Given the description of an element on the screen output the (x, y) to click on. 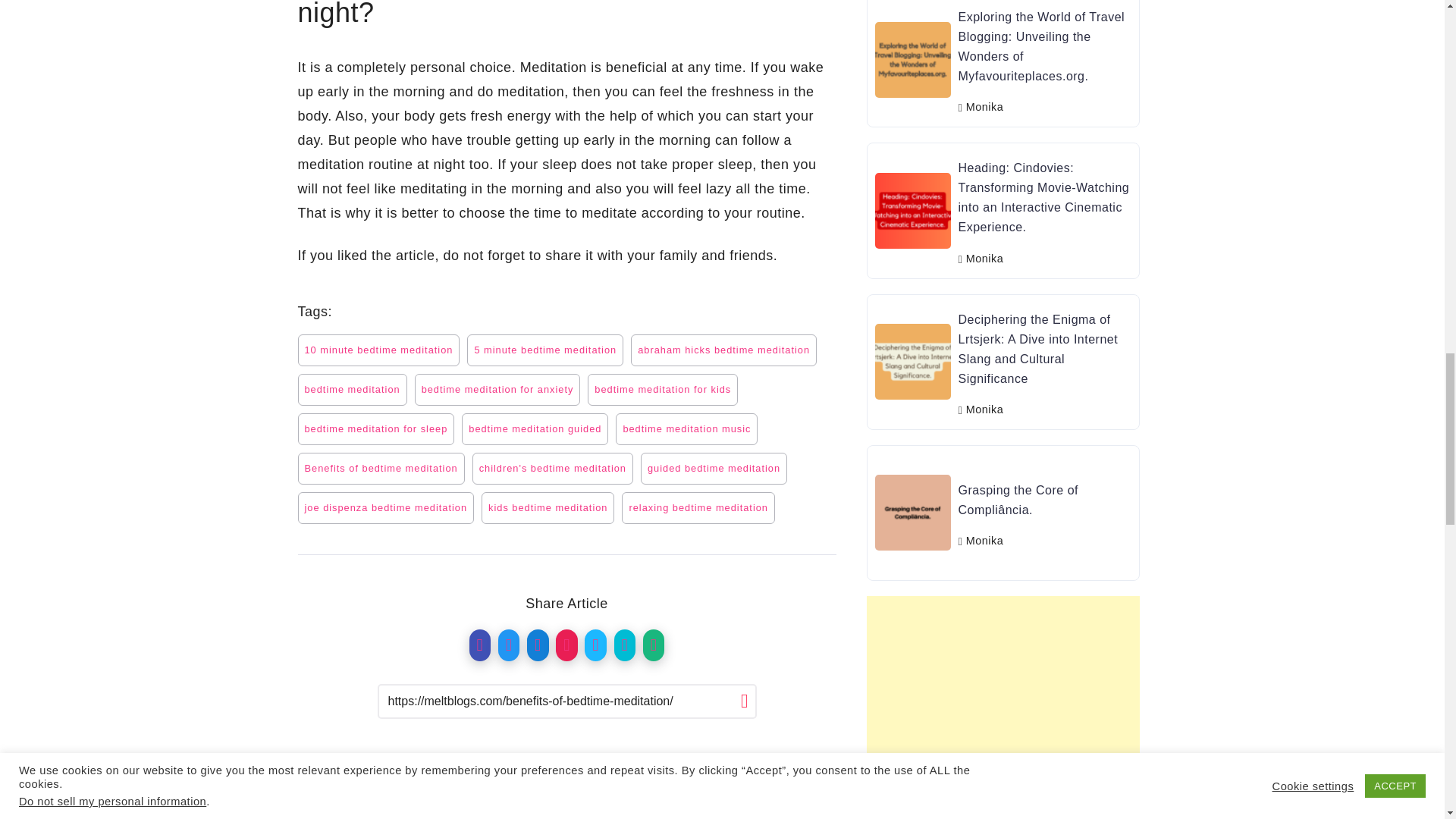
Advertisement (634, 787)
abraham hicks bedtime meditation (723, 350)
bedtime meditation (351, 389)
5 minute bedtime meditation (545, 350)
bedtime meditation for anxiety (497, 389)
bedtime meditation for kids (663, 389)
10 minute bedtime meditation (378, 350)
